Given the description of an element on the screen output the (x, y) to click on. 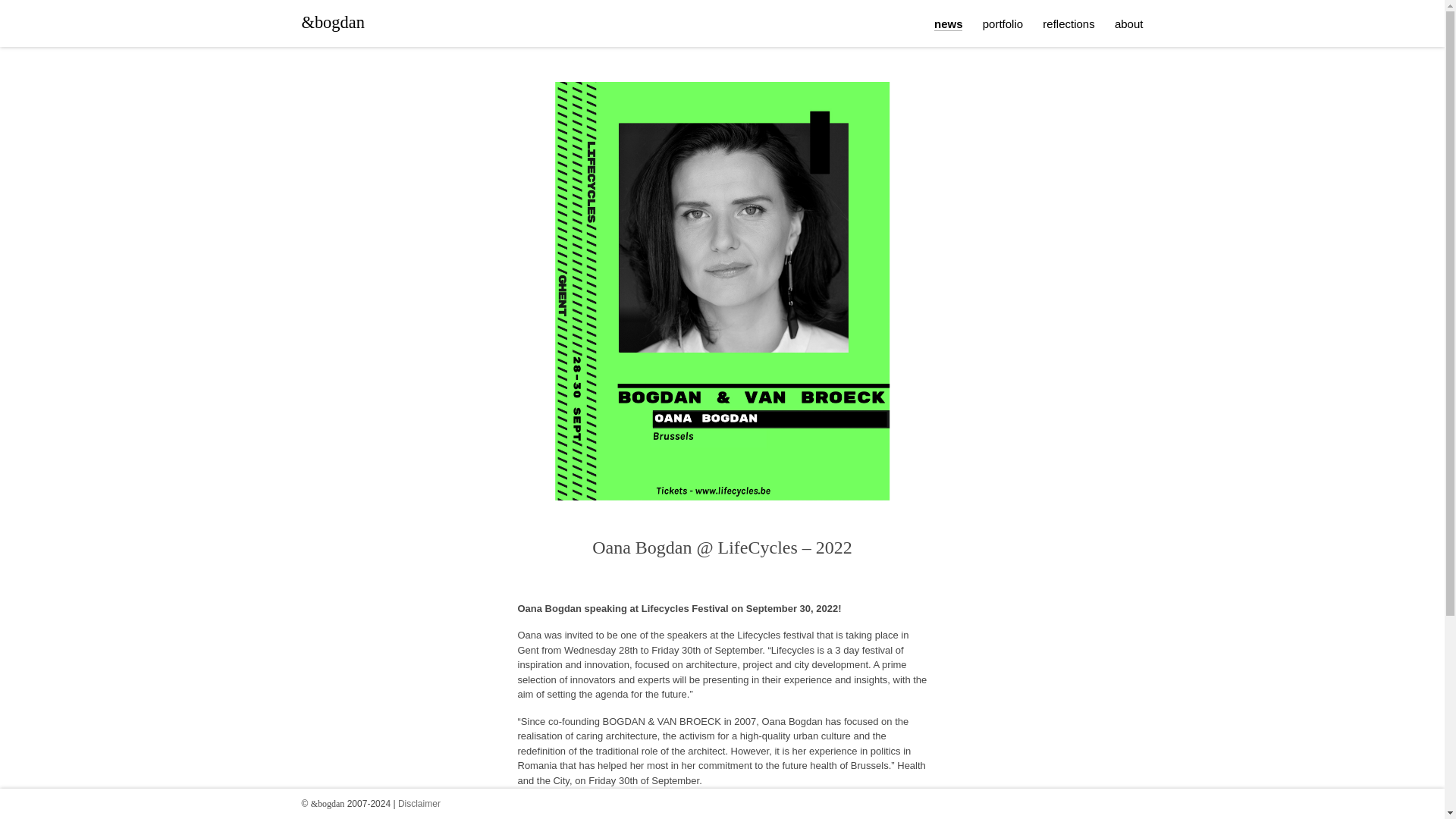
link (839, 807)
about (1128, 23)
Disclaimer (419, 803)
news (948, 24)
portfolio (1002, 23)
reflections (1068, 23)
